Given the description of an element on the screen output the (x, y) to click on. 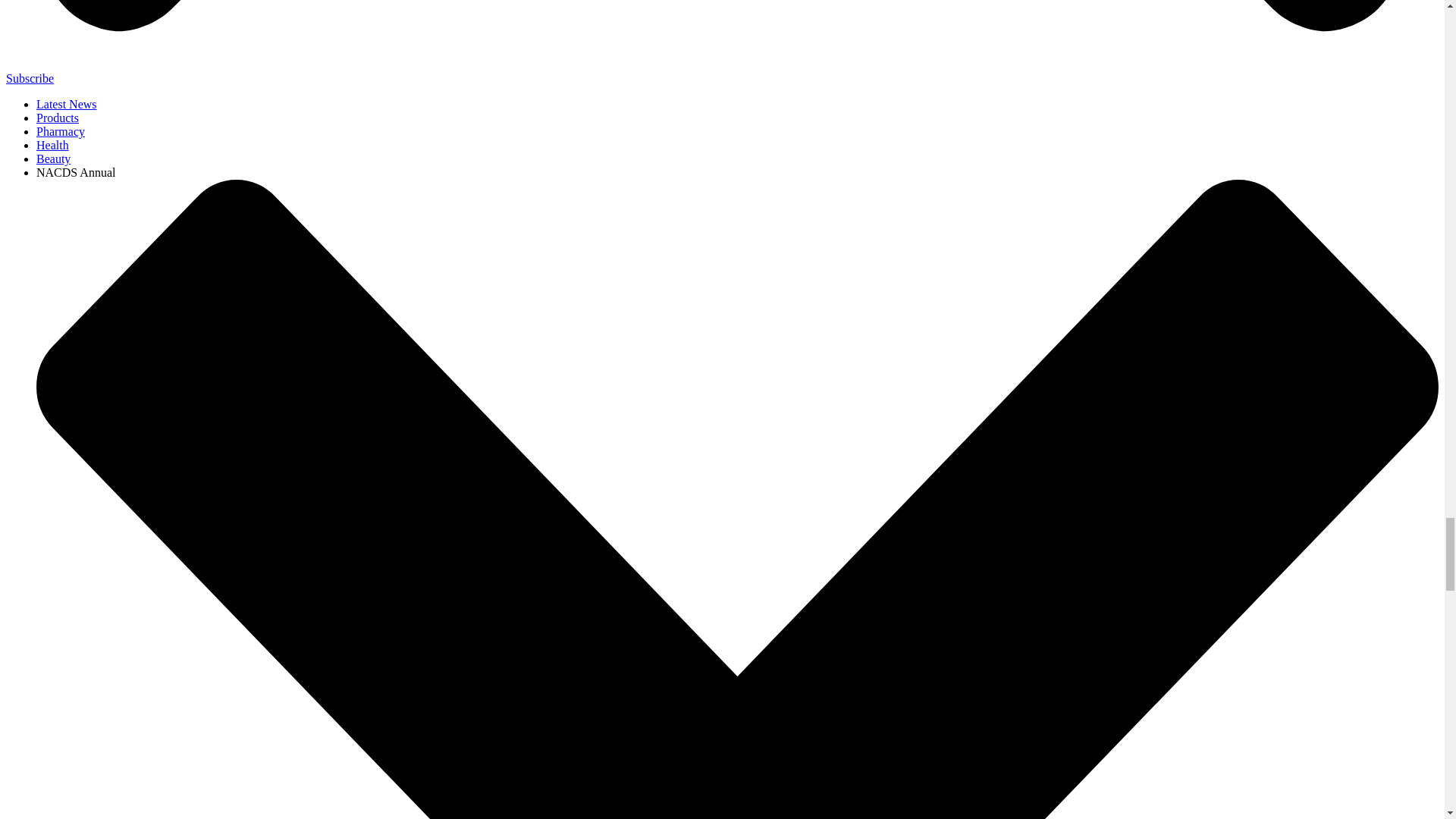
Health (52, 144)
Subscribe (29, 78)
Beauty (52, 158)
Products (57, 117)
Pharmacy (60, 131)
NACDS Annual (75, 172)
Latest News (66, 103)
